Given the description of an element on the screen output the (x, y) to click on. 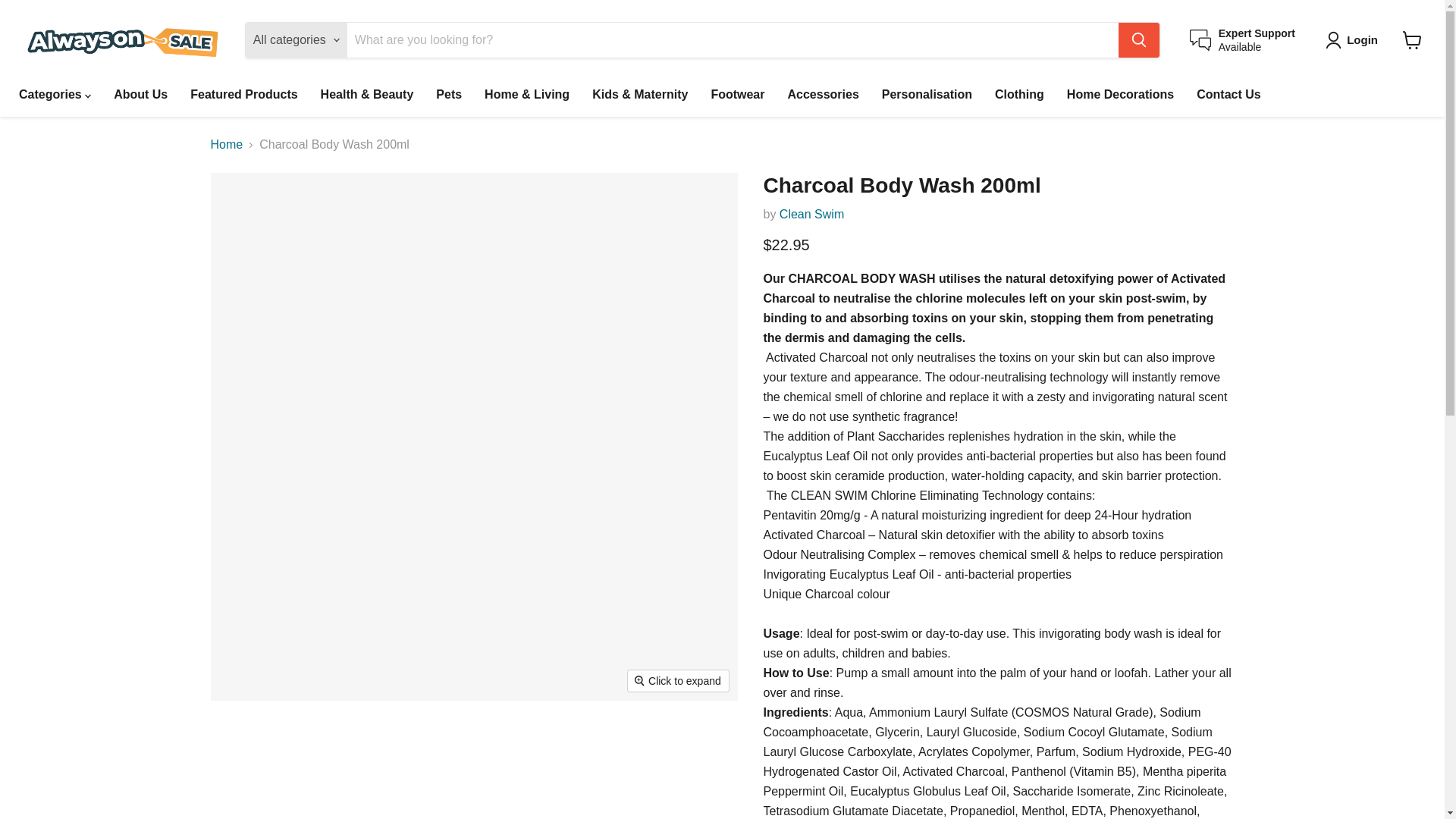
Clean Swim (1242, 40)
View cart (811, 214)
Login (1411, 39)
